Given the description of an element on the screen output the (x, y) to click on. 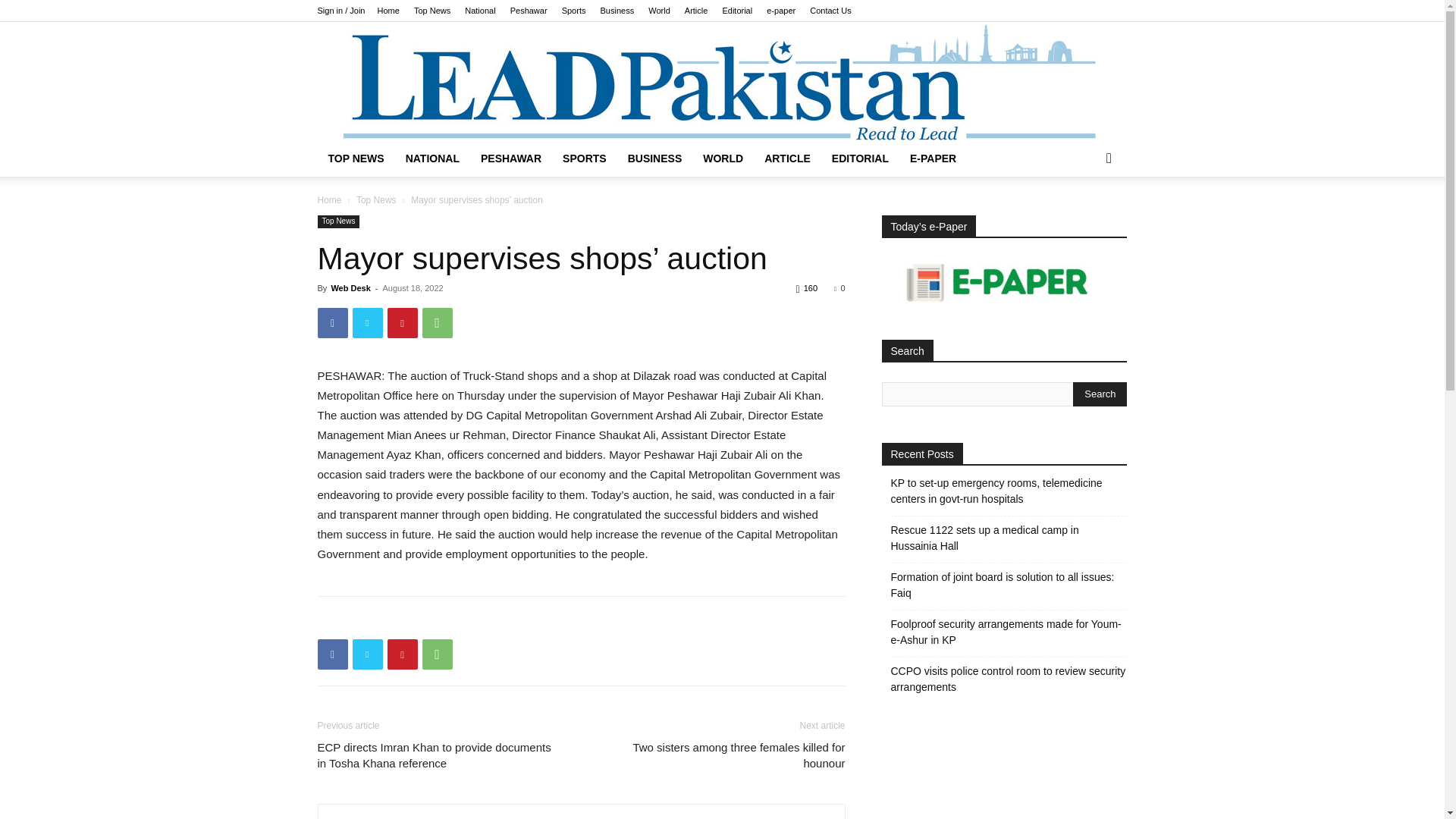
Editorial (737, 10)
TOP NEWS (355, 158)
Pinterest (401, 654)
World (658, 10)
WORLD (723, 158)
Article (695, 10)
National (479, 10)
Facebook (332, 654)
View all posts in Top News (376, 199)
Contact Us (829, 10)
BUSINESS (655, 158)
SPORTS (584, 158)
Pinterest (401, 322)
PESHAWAR (510, 158)
Business (616, 10)
